Given the description of an element on the screen output the (x, y) to click on. 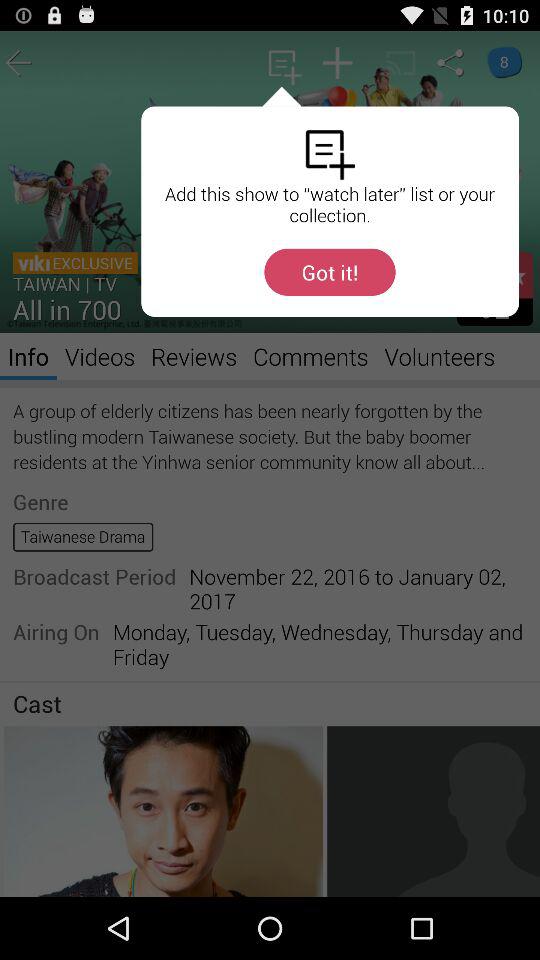
launch got it! item (329, 271)
